Given the description of an element on the screen output the (x, y) to click on. 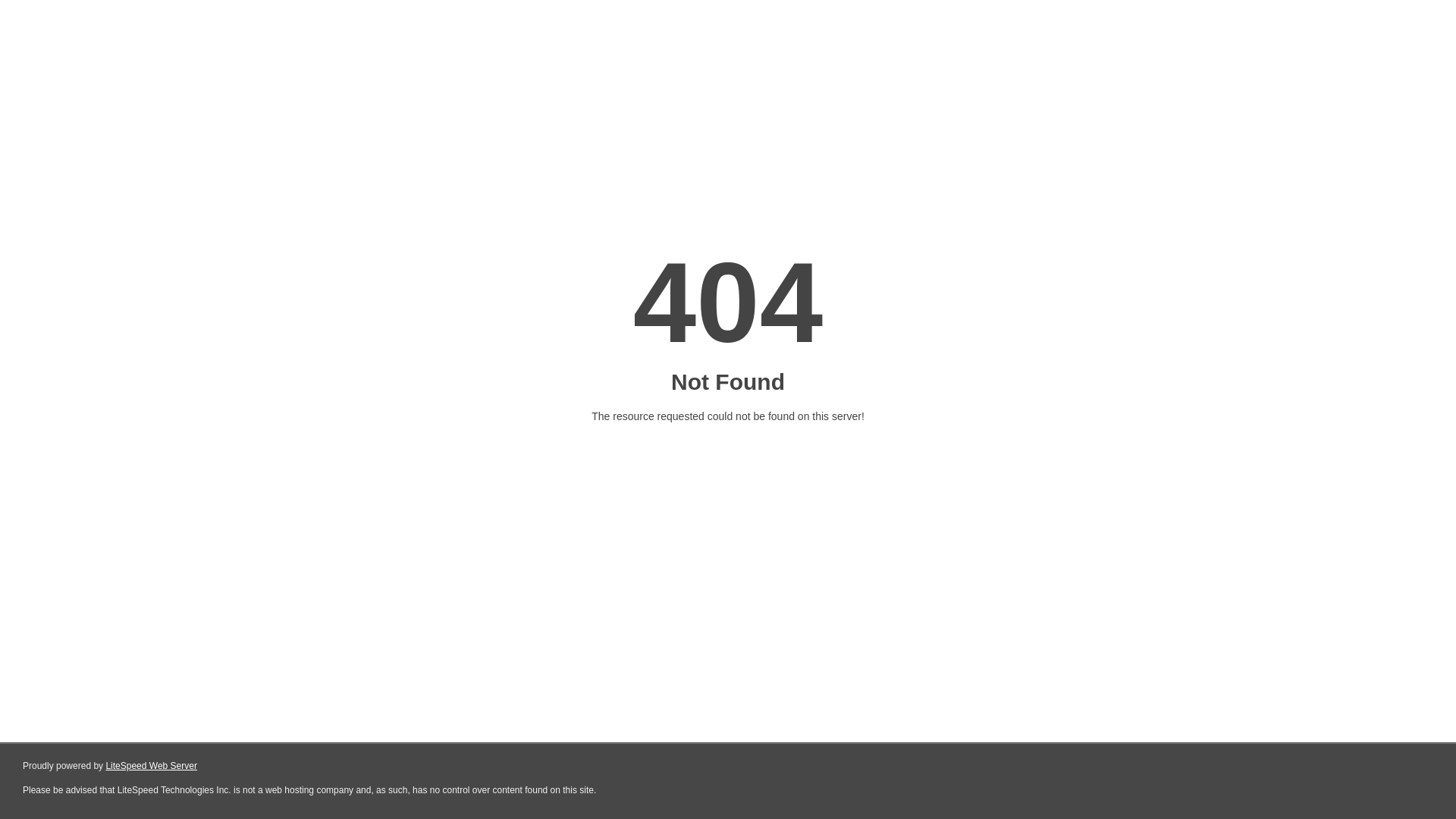
LiteSpeed Web Server Element type: text (151, 765)
